Given the description of an element on the screen output the (x, y) to click on. 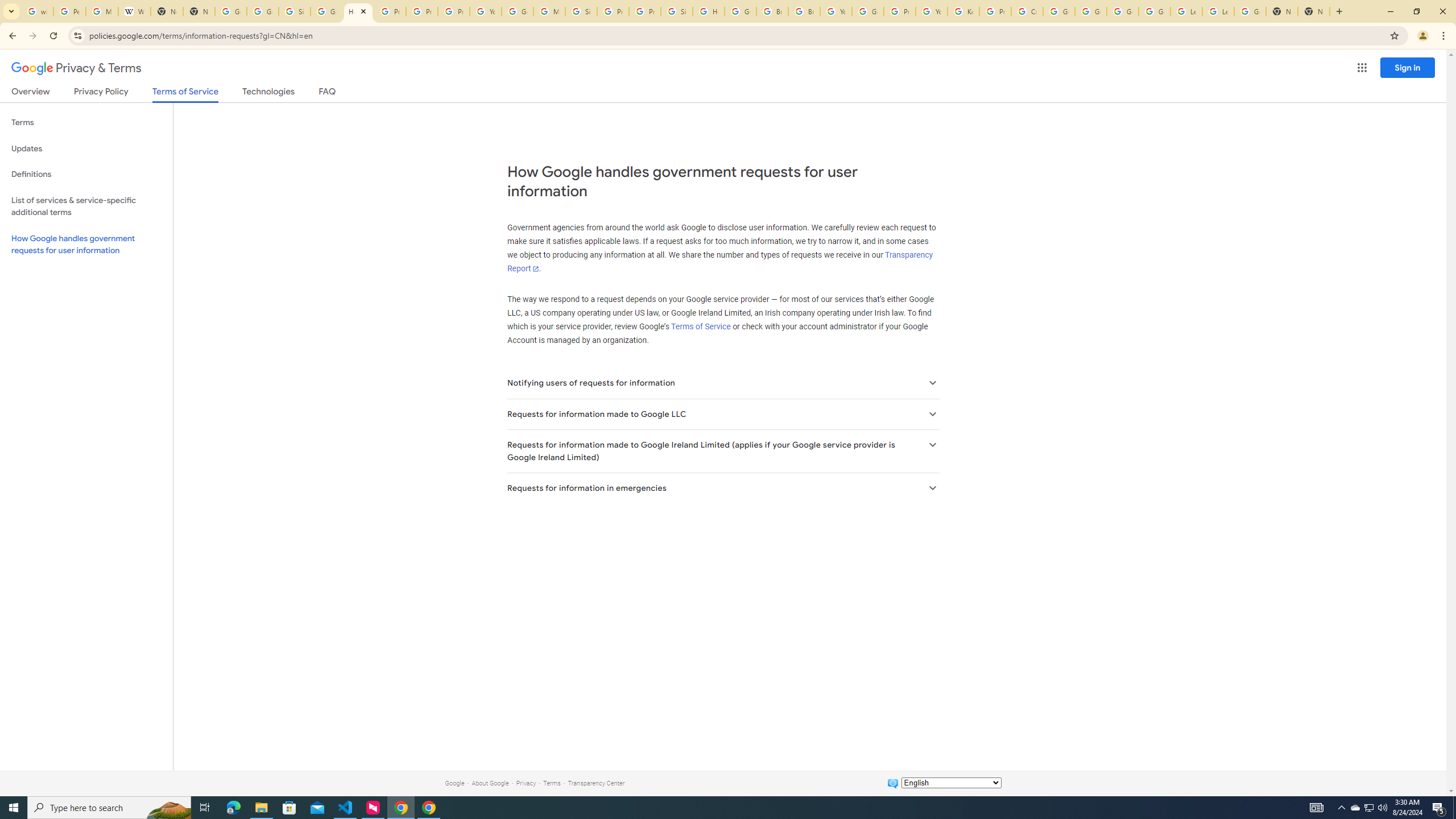
New Tab (1281, 11)
Requests for information in emergencies (722, 488)
Google (454, 783)
YouTube (931, 11)
YouTube (485, 11)
YouTube (836, 11)
Google Drive: Sign-in (262, 11)
